Given the description of an element on the screen output the (x, y) to click on. 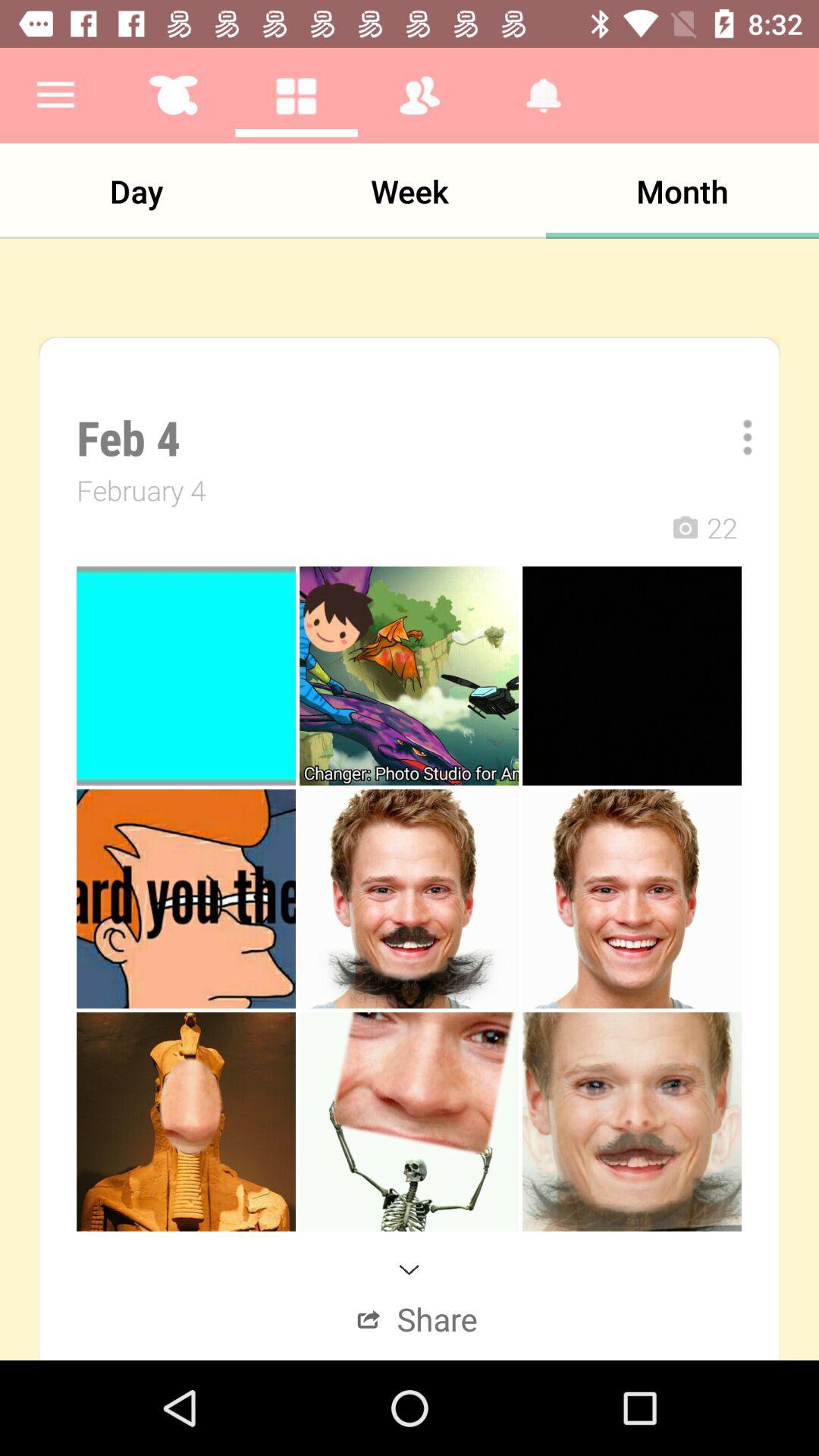
open icon next to the month (409, 190)
